Given the description of an element on the screen output the (x, y) to click on. 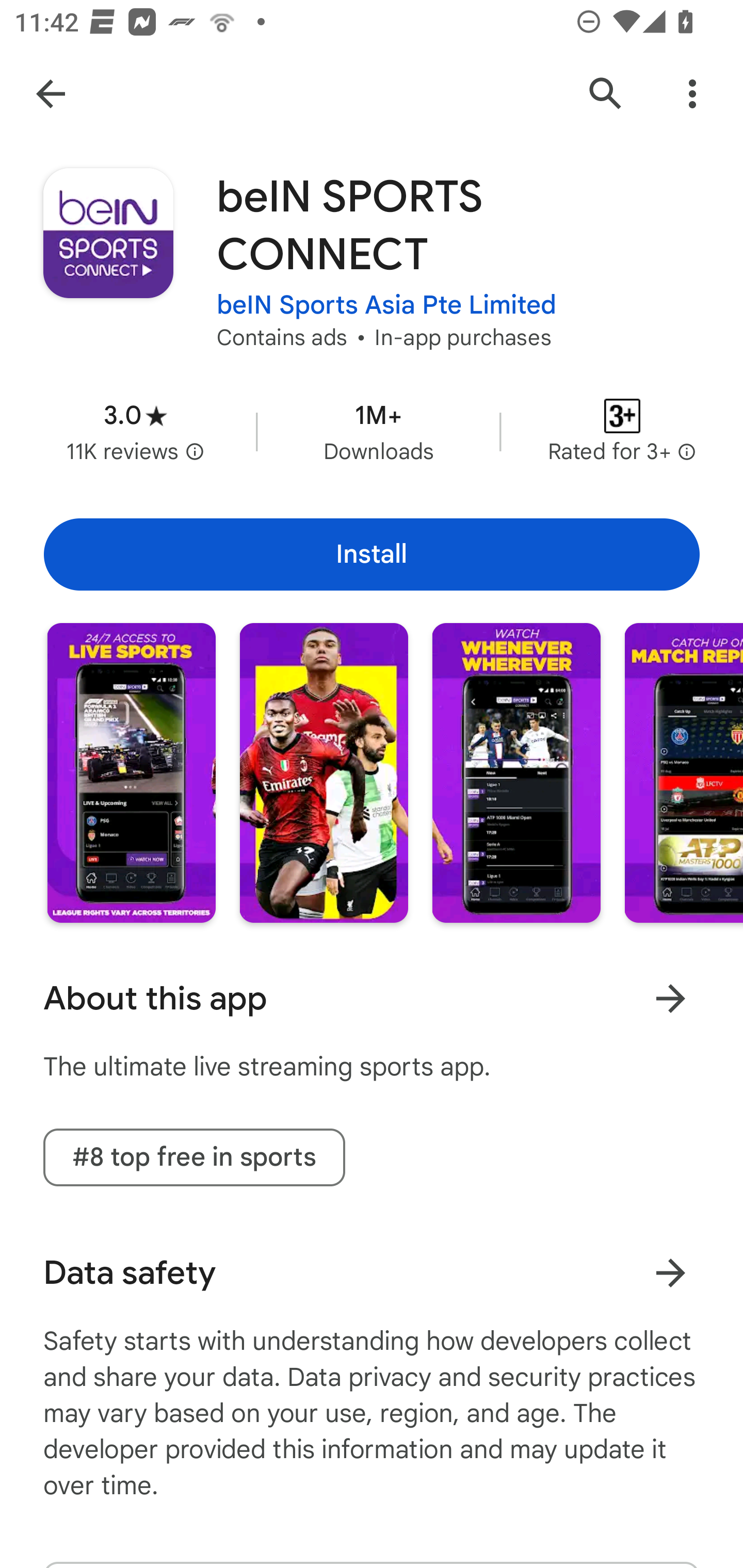
Navigate up (50, 93)
Search Google Play (605, 93)
More Options (692, 93)
beIN Sports Asia Pte Limited (386, 304)
Average rating 3.0 stars in 11 thousand reviews (135, 431)
Content rating Rated for 3+ (622, 431)
Install (371, 554)
Screenshot "1" of "6" (130, 771)
Screenshot "2" of "6" (323, 771)
Screenshot "3" of "6" (515, 771)
Screenshot "4" of "6" (683, 771)
About this app Learn more About this app (371, 998)
Learn more About this app (670, 997)
#8 top free in sports tag (194, 1157)
Data safety Learn more about data safety (371, 1273)
Learn more about data safety (670, 1272)
